Given the description of an element on the screen output the (x, y) to click on. 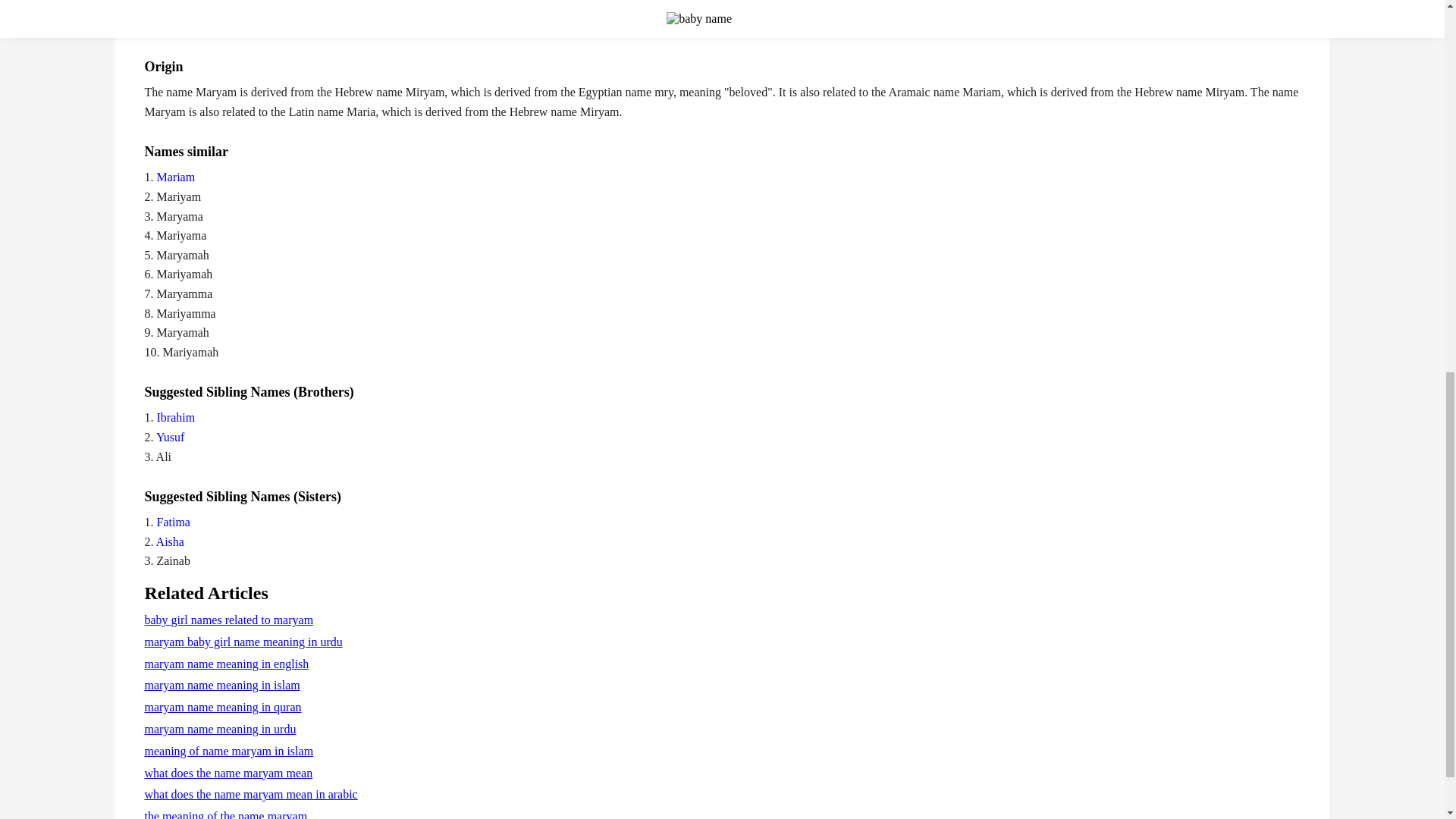
what does the name maryam mean (228, 772)
baby girl names related to maryam (228, 619)
maryam baby girl name meaning in urdu (243, 641)
Ibrahim (173, 417)
what does the name maryam mean in arabic (250, 793)
maryam name meaning in quran (222, 707)
maryam name meaning in urdu (219, 728)
maryam name meaning in english (226, 663)
Yusuf (168, 436)
maryam name meaning in islam (221, 684)
Mariam (173, 176)
meaning of name maryam in islam (228, 750)
Aisha (167, 541)
Fatima (170, 521)
